Given the description of an element on the screen output the (x, y) to click on. 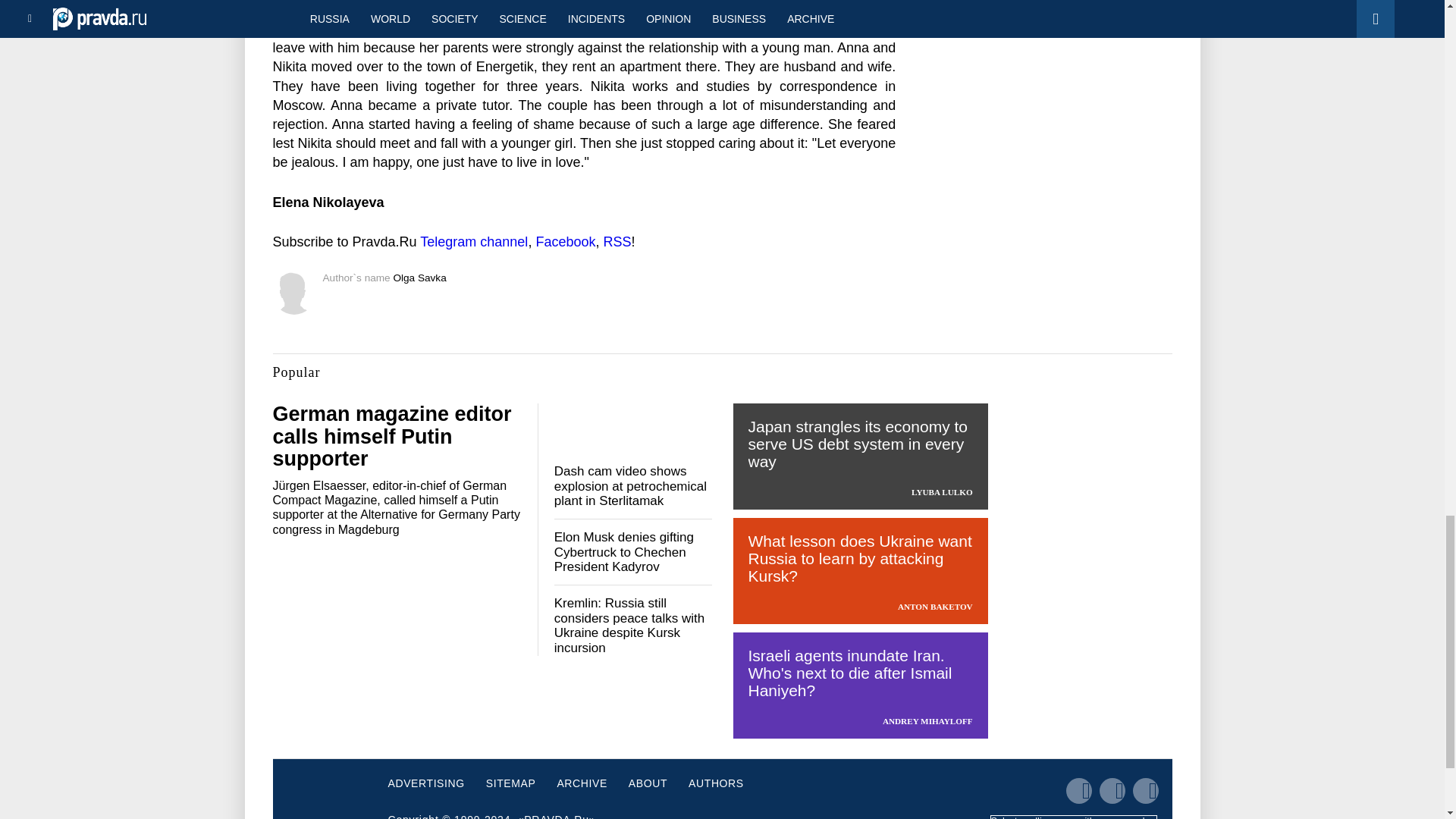
Telegram channel (473, 241)
RSS (616, 241)
Olga Savka (419, 277)
Facebook (565, 241)
